Given the description of an element on the screen output the (x, y) to click on. 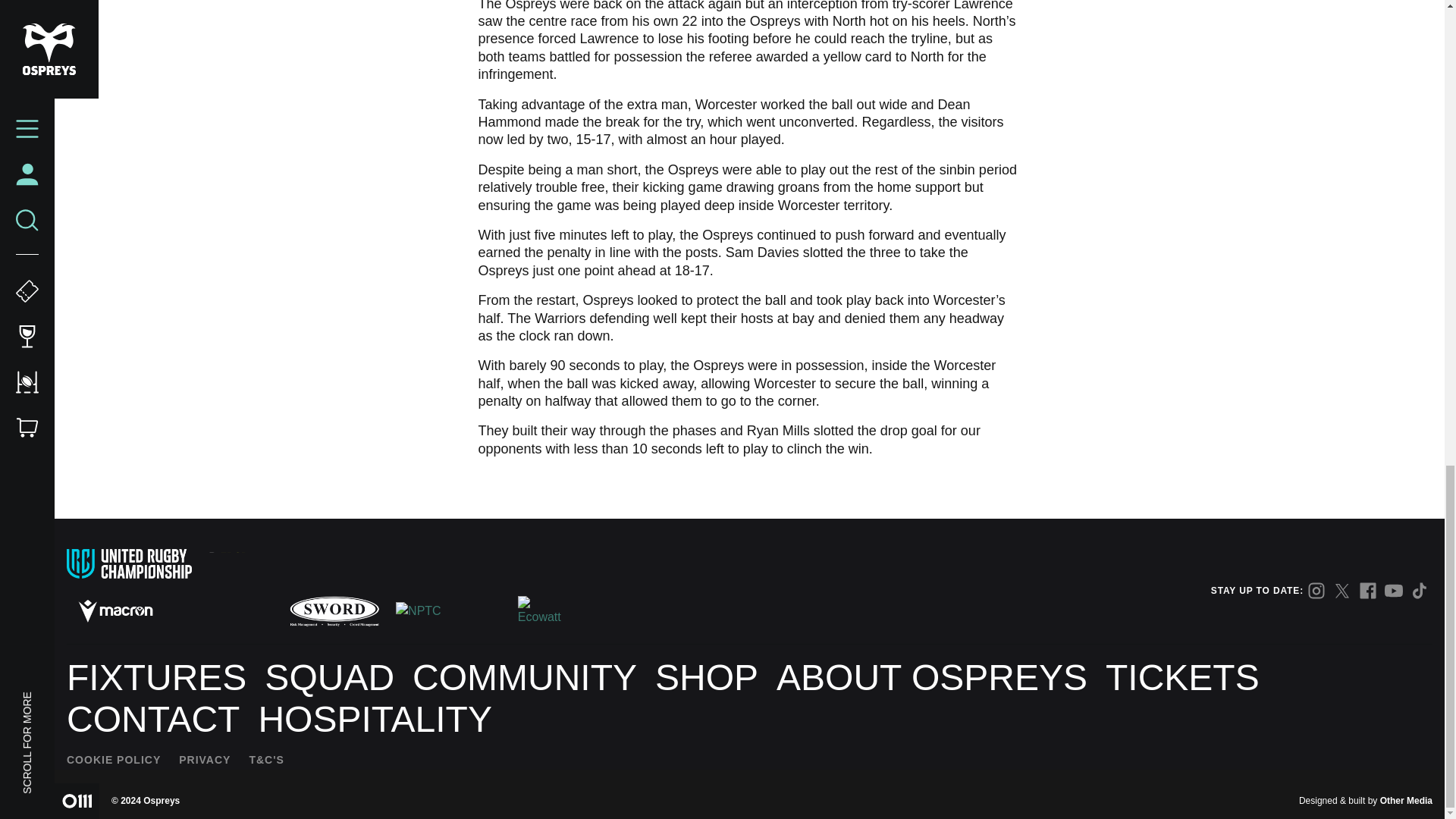
Sword (334, 610)
NPTC (444, 610)
YouTube (1393, 590)
Macron (115, 610)
TikTok (1419, 590)
Instagram (1315, 590)
The Consumer Helpline (225, 611)
European Challenge Cup (266, 563)
United Rugby Championship (129, 563)
Ecowatt (543, 611)
Facebook (1367, 590)
